Given the description of an element on the screen output the (x, y) to click on. 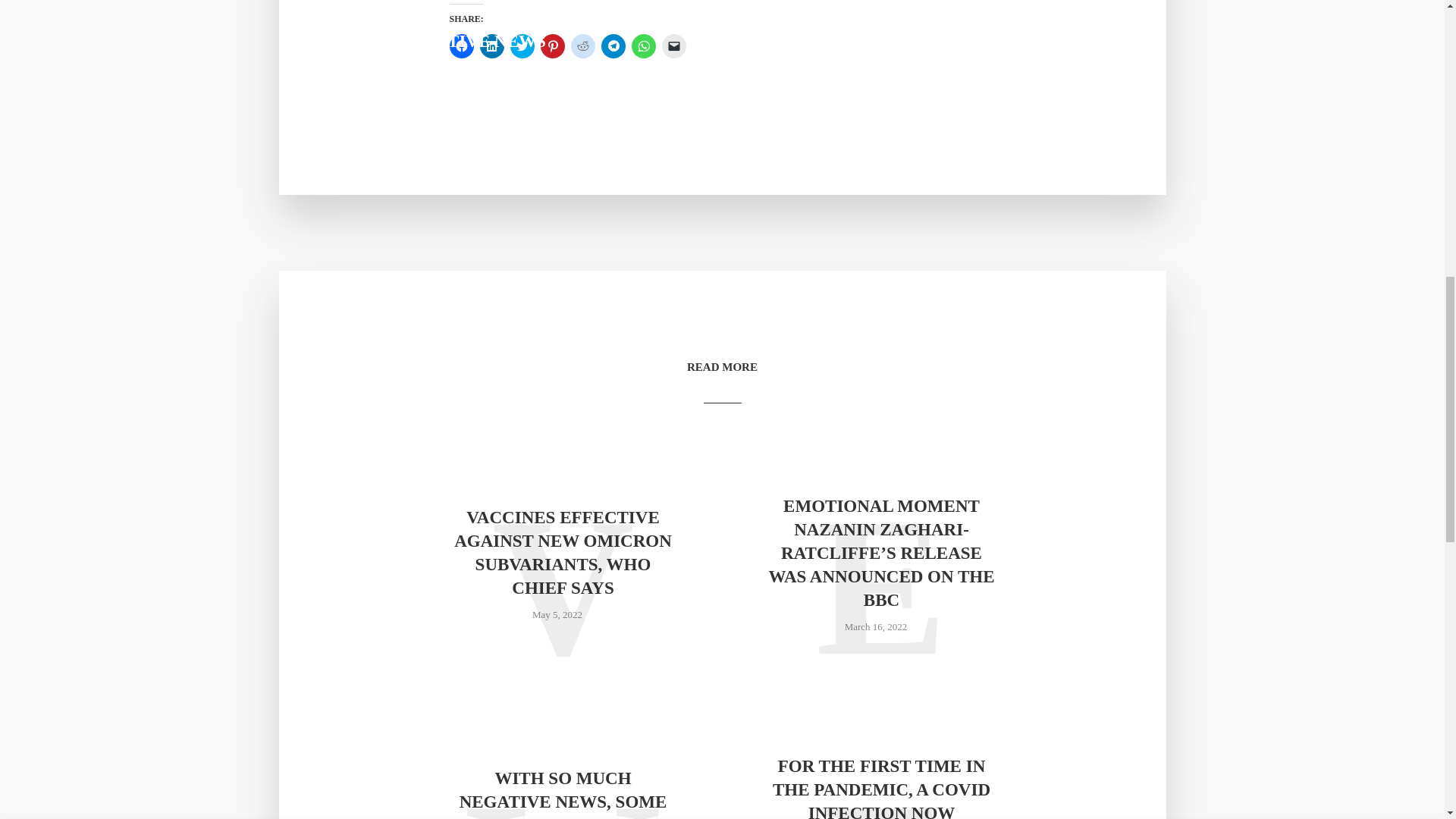
Click to share on Pinterest (552, 46)
Click to share on Facebook (460, 46)
Click to share on WhatsApp (642, 46)
Click to share on LinkedIn (491, 46)
Click to share on Twitter (521, 46)
Click to email a link to a friend (673, 46)
Click to share on Reddit (582, 46)
Click to share on Telegram (611, 46)
